Given the description of an element on the screen output the (x, y) to click on. 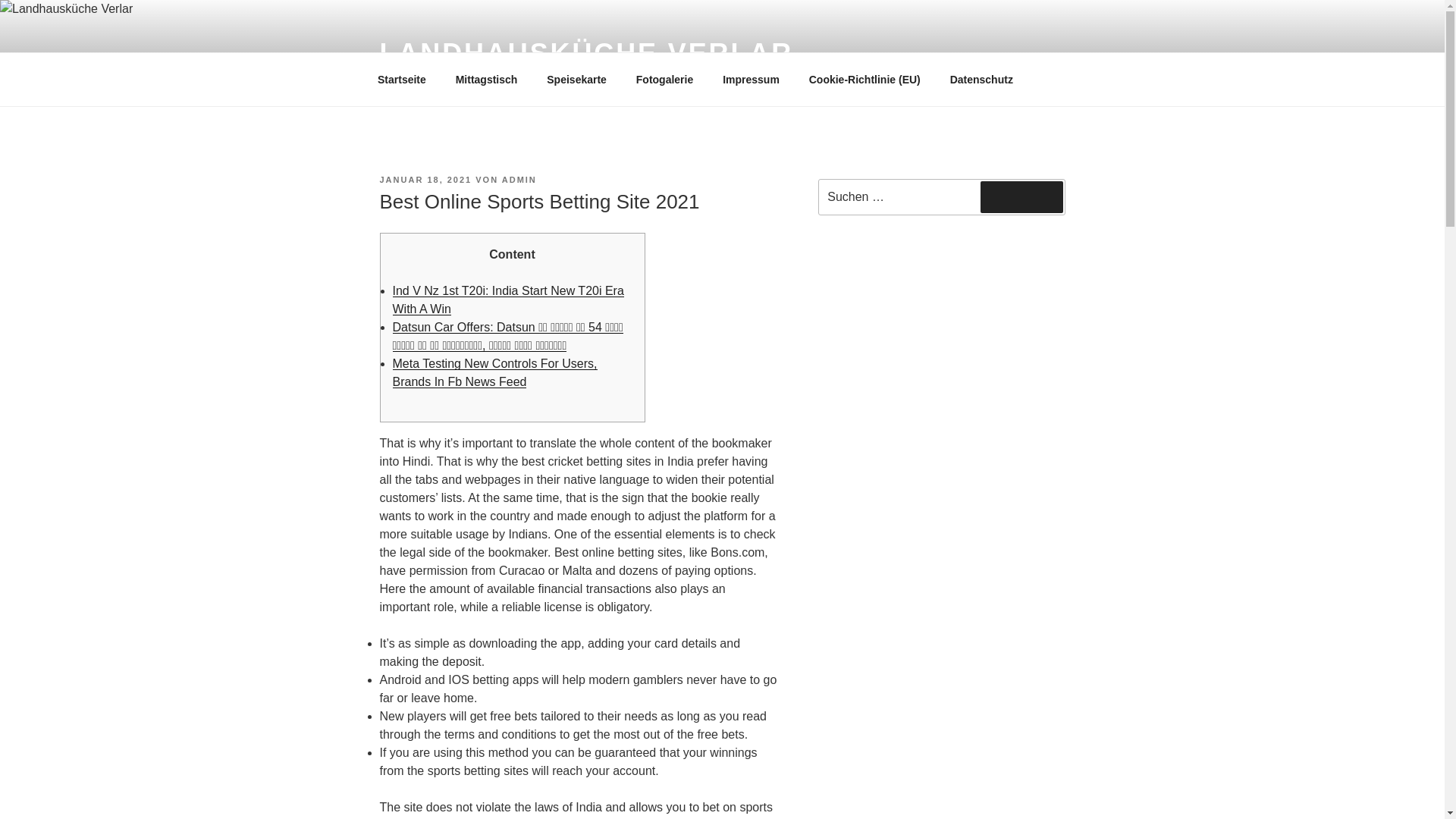
Speisekarte (577, 78)
Meta Testing New Controls For Users, Brands In Fb News Feed (494, 372)
Mittagstisch (486, 78)
Impressum (751, 78)
Fotogalerie (664, 78)
Datenschutz (981, 78)
Suchen (1020, 196)
Ind V Nz 1st T20i: India Start New T20i Era With A Win (508, 299)
ADMIN (519, 179)
JANUAR 18, 2021 (424, 179)
